Given the description of an element on the screen output the (x, y) to click on. 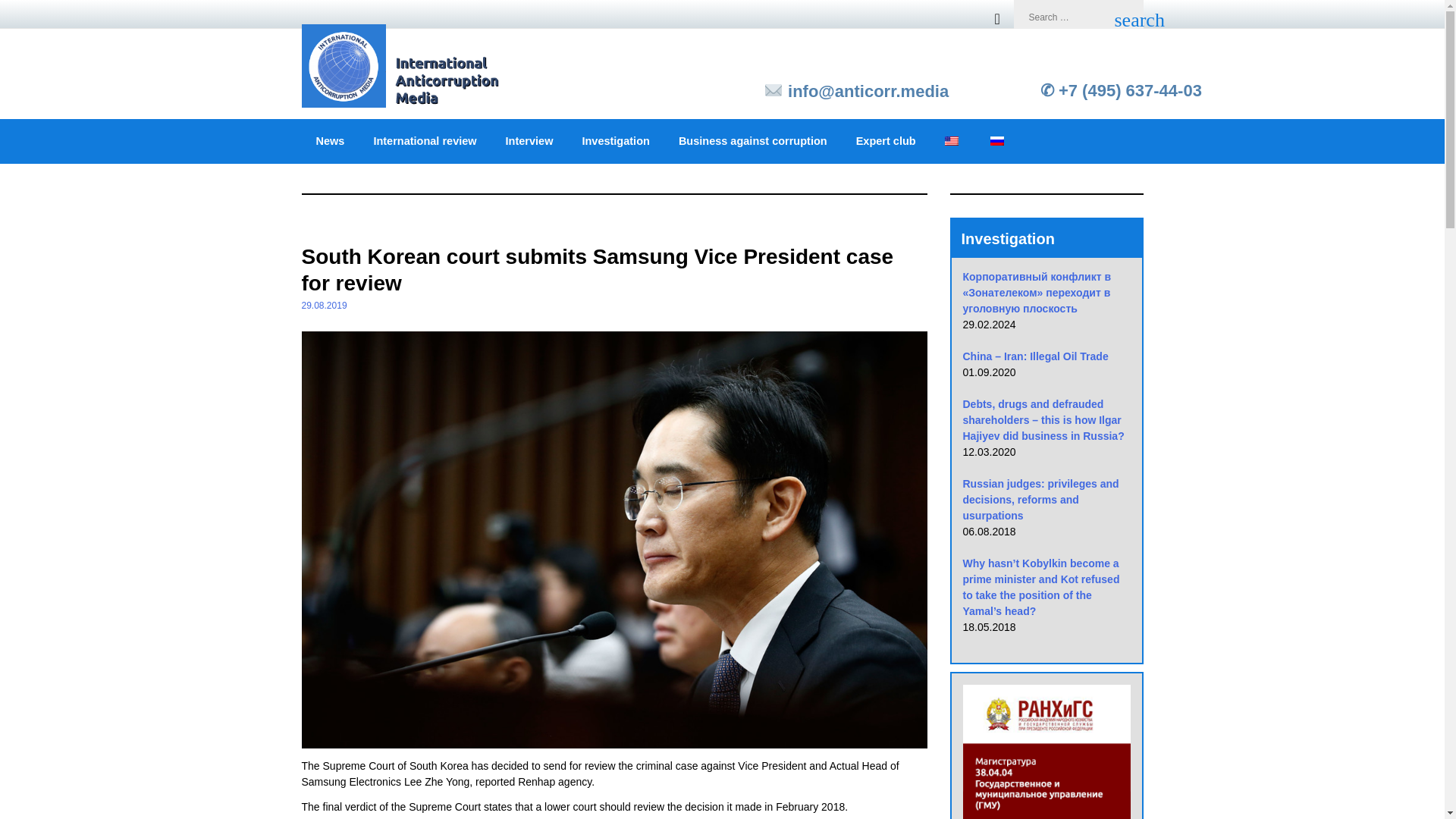
News (330, 140)
International review (389, 222)
International review (424, 140)
Interview (529, 140)
searchSearch (1123, 18)
Business against corruption (752, 140)
Expert club (885, 140)
News (315, 222)
Search for: (1059, 17)
29.08.2019 (324, 305)
